Given the description of an element on the screen output the (x, y) to click on. 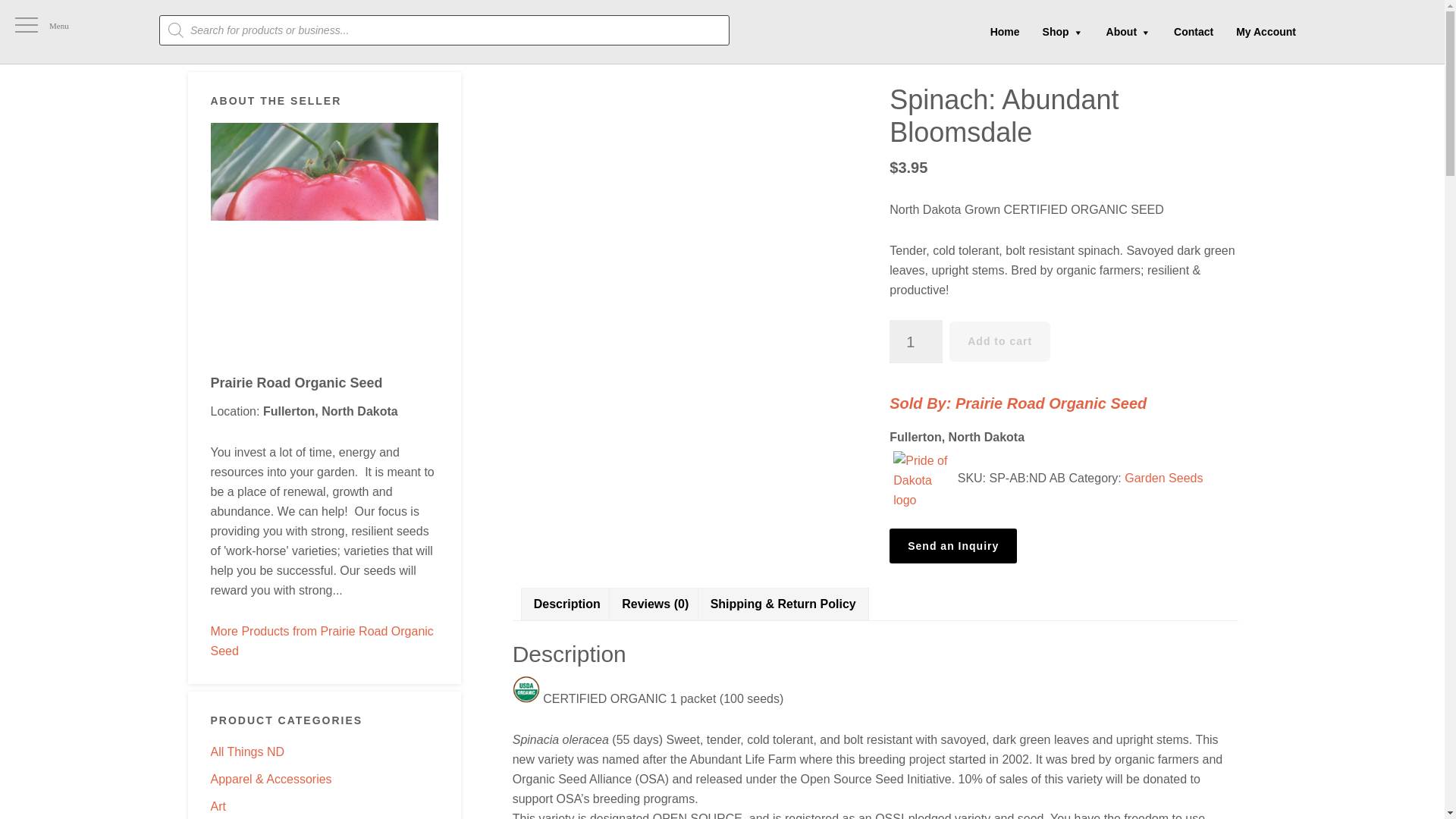
Shop North Dakota (100, 32)
My Account (1265, 31)
More Products from Prairie Road Organic Seed (322, 640)
Shop (1062, 32)
Art (218, 806)
Contact (1192, 31)
Home (1004, 31)
All Things ND (248, 751)
Qty (915, 341)
